Given the description of an element on the screen output the (x, y) to click on. 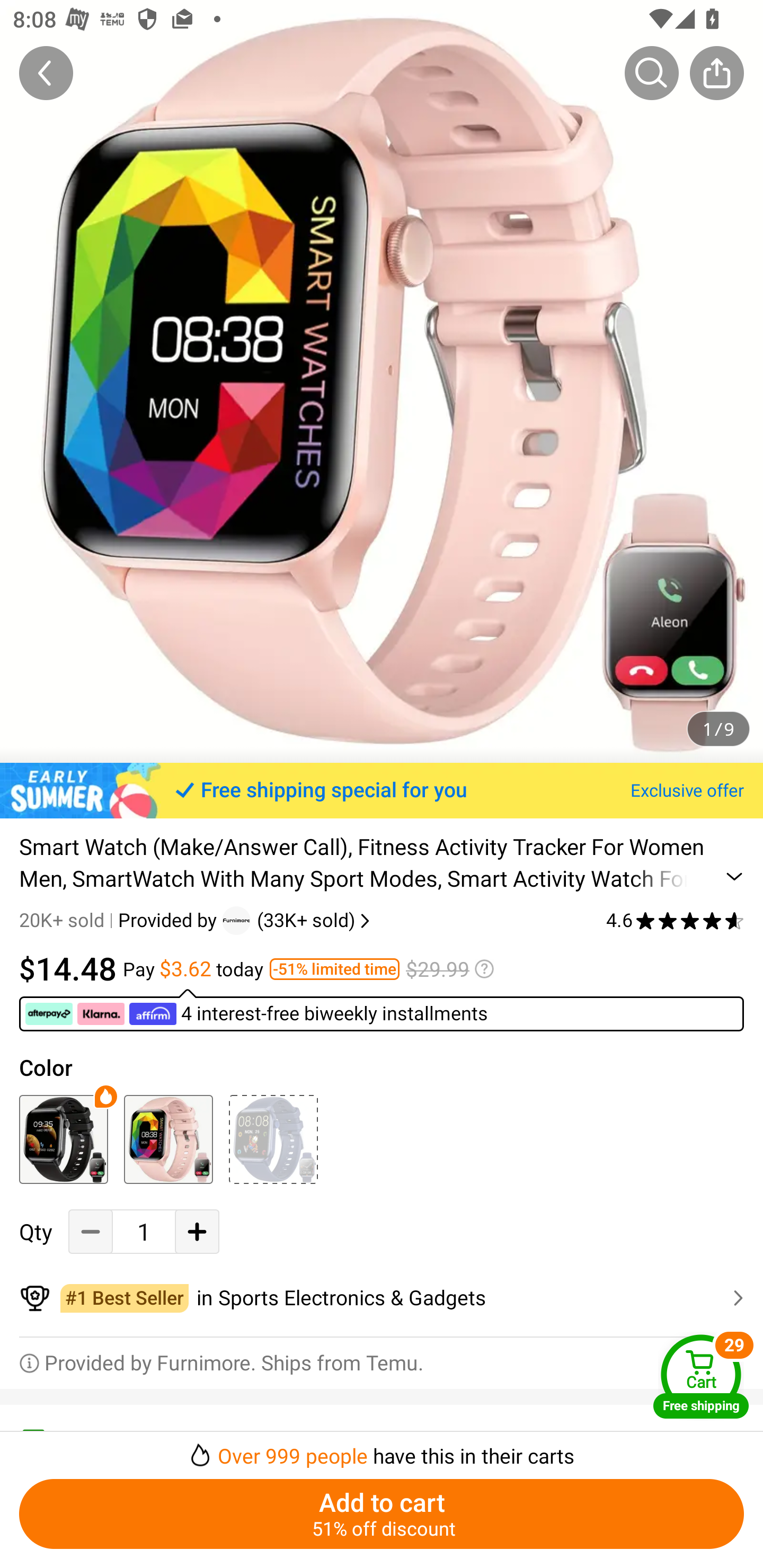
Back (46, 72)
Share (716, 72)
Free shipping special for you Exclusive offer (381, 790)
20K+ sold Provided by  (120, 920)
4.6 (674, 920)
￼ ￼ ￼ 4 interest-free biweekly installments (381, 1009)
￼ ￼ ￼ 4 interest-free biweekly installments (257, 1014)
Black (63, 1138)
Pink (167, 1138)
Blue (273, 1138)
Decrease Quantity Button (90, 1231)
Add Quantity button (196, 1231)
1 (143, 1232)
￼￼in Sports Electronics & Gadgets (381, 1297)
Cart Free shipping Cart (701, 1375)
￼￼Over 999 people have this in their carts (381, 1450)
Add to cart  51% off discount (381, 1513)
